Given the description of an element on the screen output the (x, y) to click on. 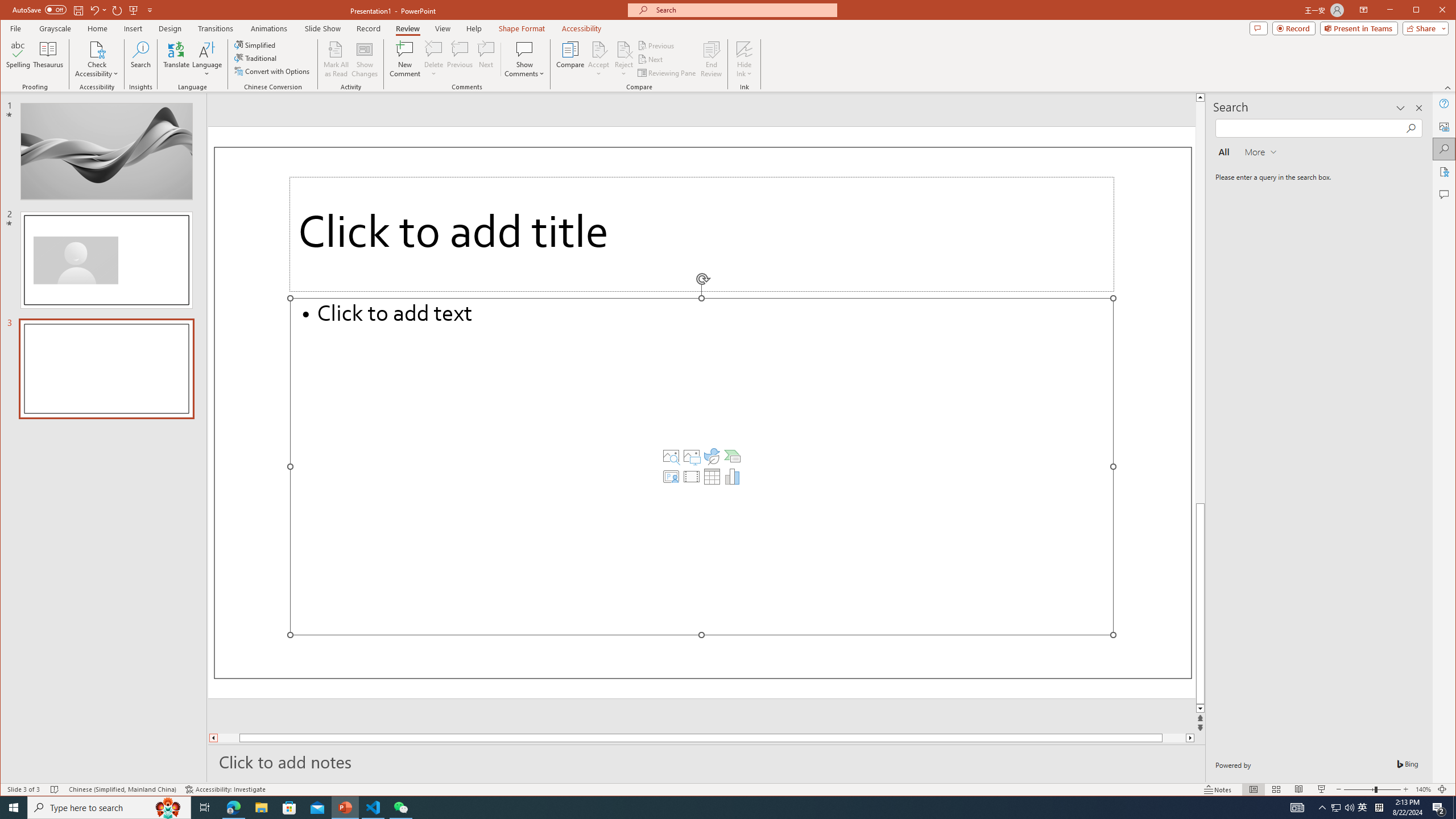
Reject (623, 59)
Mark All as Read (335, 59)
Zoom 140% (1422, 789)
Next (651, 59)
End Review (710, 59)
Translate (175, 59)
Insert Chart (732, 476)
